Given the description of an element on the screen output the (x, y) to click on. 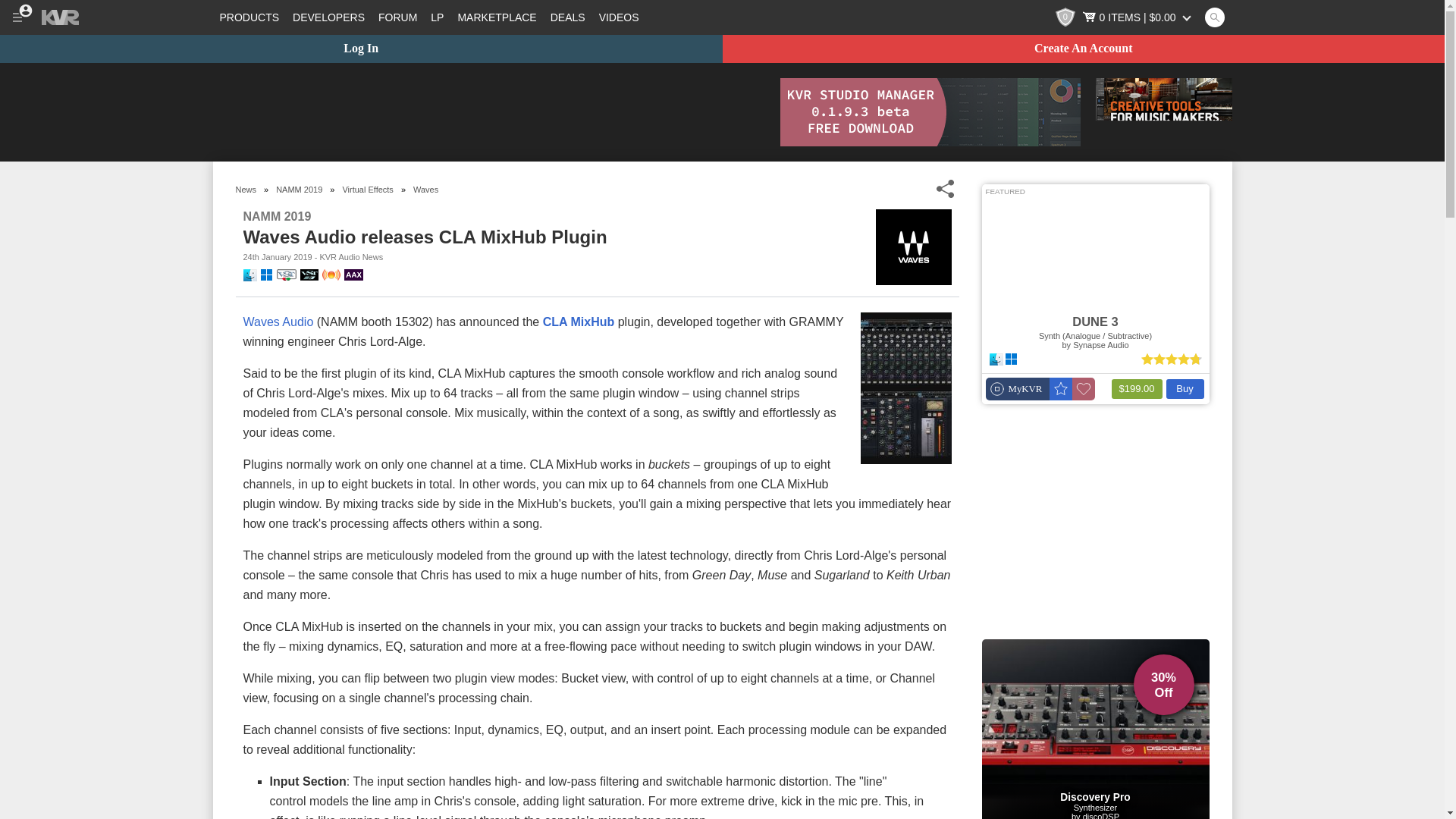
Plugins and Products Database (248, 17)
Toontrack - Take-It-EZ (1162, 111)
Marketplace (496, 17)
Share This (945, 189)
Cart (1137, 17)
Forum Latest Posts (436, 17)
Forum (397, 17)
